Given the description of an element on the screen output the (x, y) to click on. 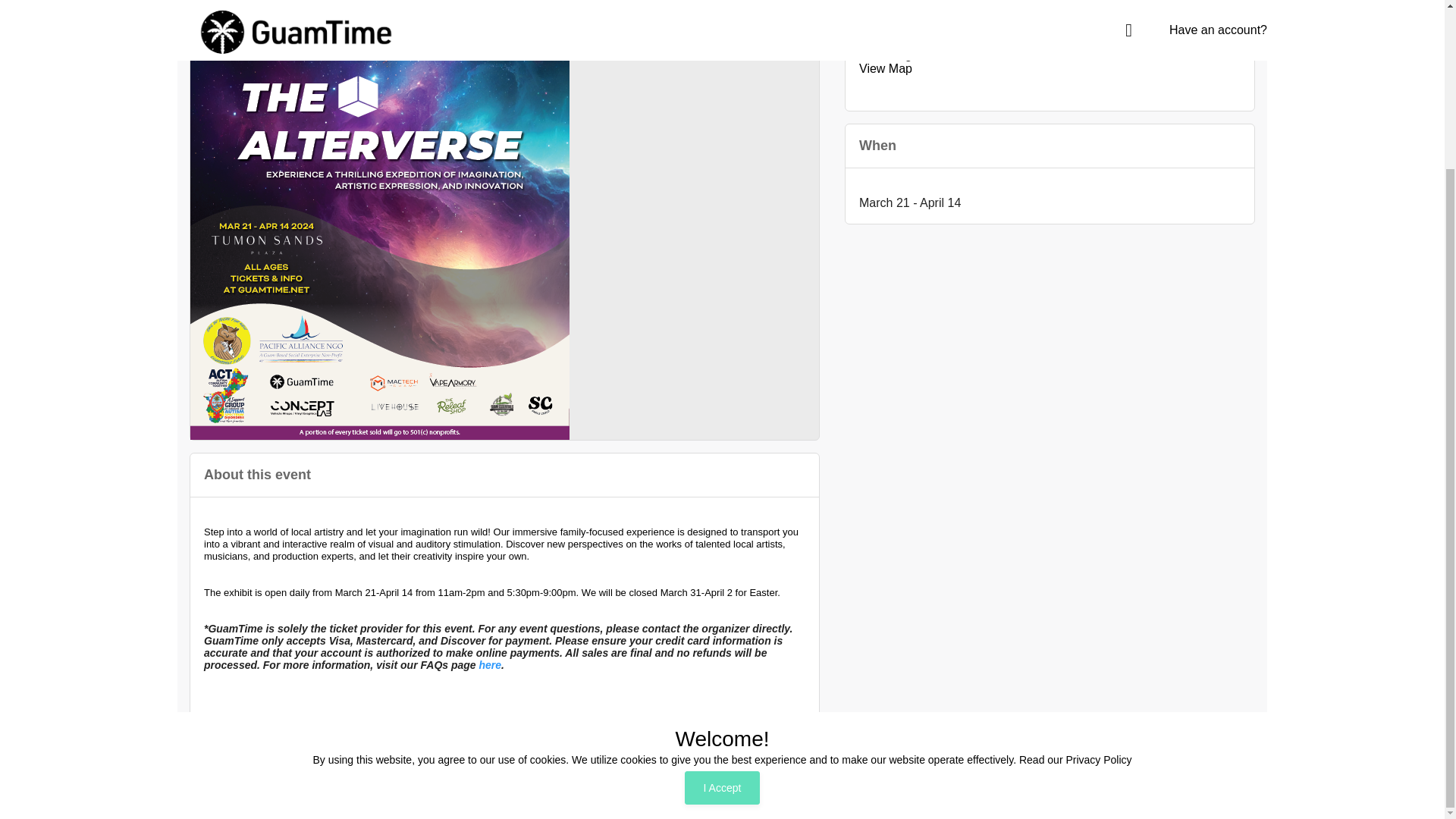
Home (1003, 794)
here (490, 664)
Read our Privacy Policy (1075, 558)
Refunds (1246, 794)
View Map (885, 68)
I Accept (722, 585)
